Given the description of an element on the screen output the (x, y) to click on. 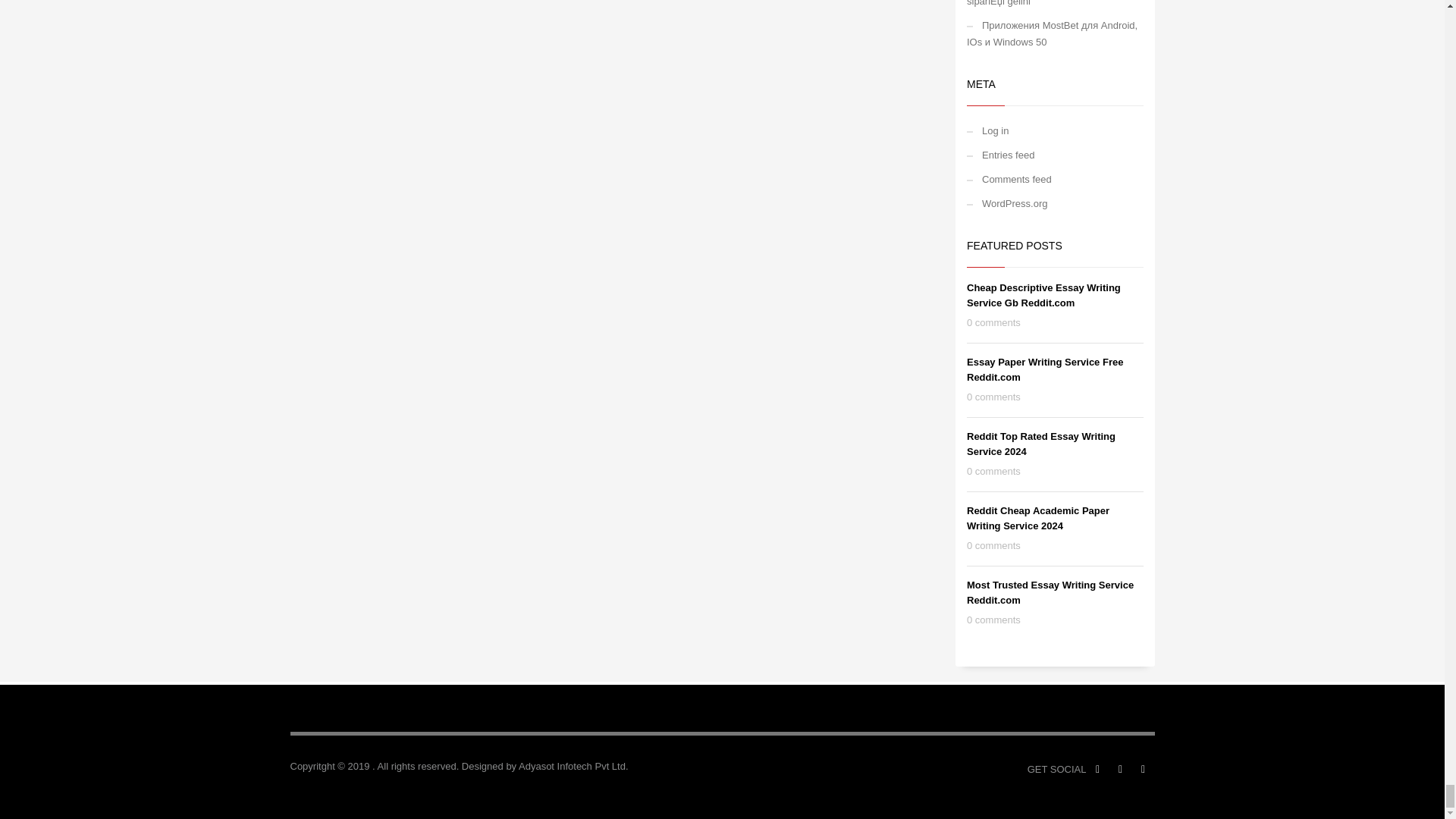
Cheap Descriptive Essay Writing Service Gb Reddit.com (1043, 294)
Essay Paper Writing Service Free Reddit.com (1044, 369)
Follow our tweets! (1142, 769)
Reddit Cheap Academic Paper Writing Service 2024 (1037, 518)
Reddit Top Rated Essay Writing Service 2024 (1040, 443)
insta (1119, 769)
Like us on Facebook! (1097, 769)
Most Trusted Essay Writing Service Reddit.com (1050, 592)
